Given the description of an element on the screen output the (x, y) to click on. 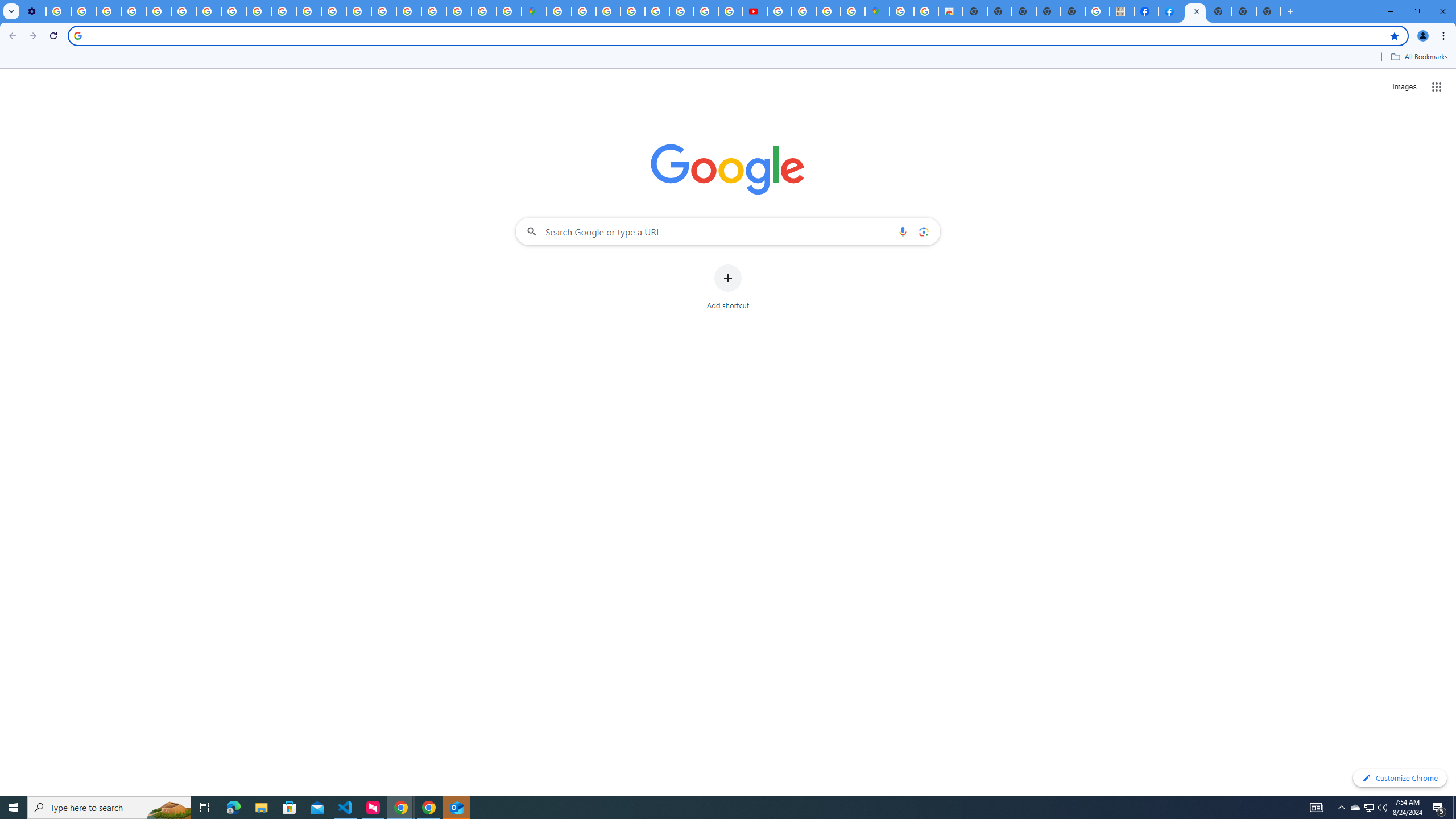
Sign in - Google Accounts (433, 11)
Search Google or type a URL (727, 230)
Terms and Conditions (656, 11)
Privacy Checkup (283, 11)
All Bookmarks (1418, 56)
Search by image (922, 230)
